Given the description of an element on the screen output the (x, y) to click on. 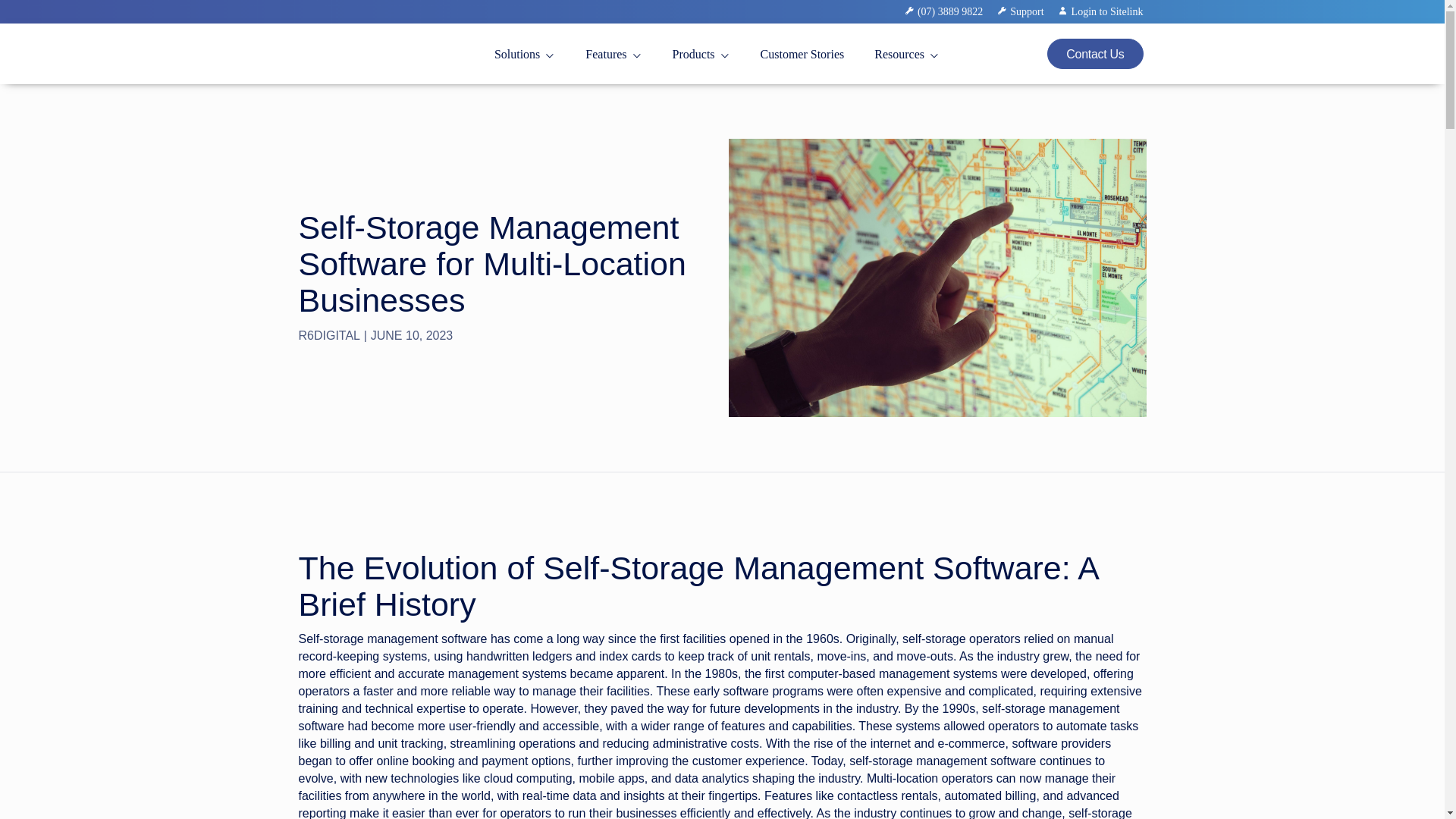
SiteLink (323, 77)
Contact Us (1094, 53)
Support (1027, 11)
Login to Sitelink (1100, 11)
Resources (907, 54)
Solutions (524, 54)
Products (701, 54)
Features (613, 54)
Customer Stories (802, 54)
